Given the description of an element on the screen output the (x, y) to click on. 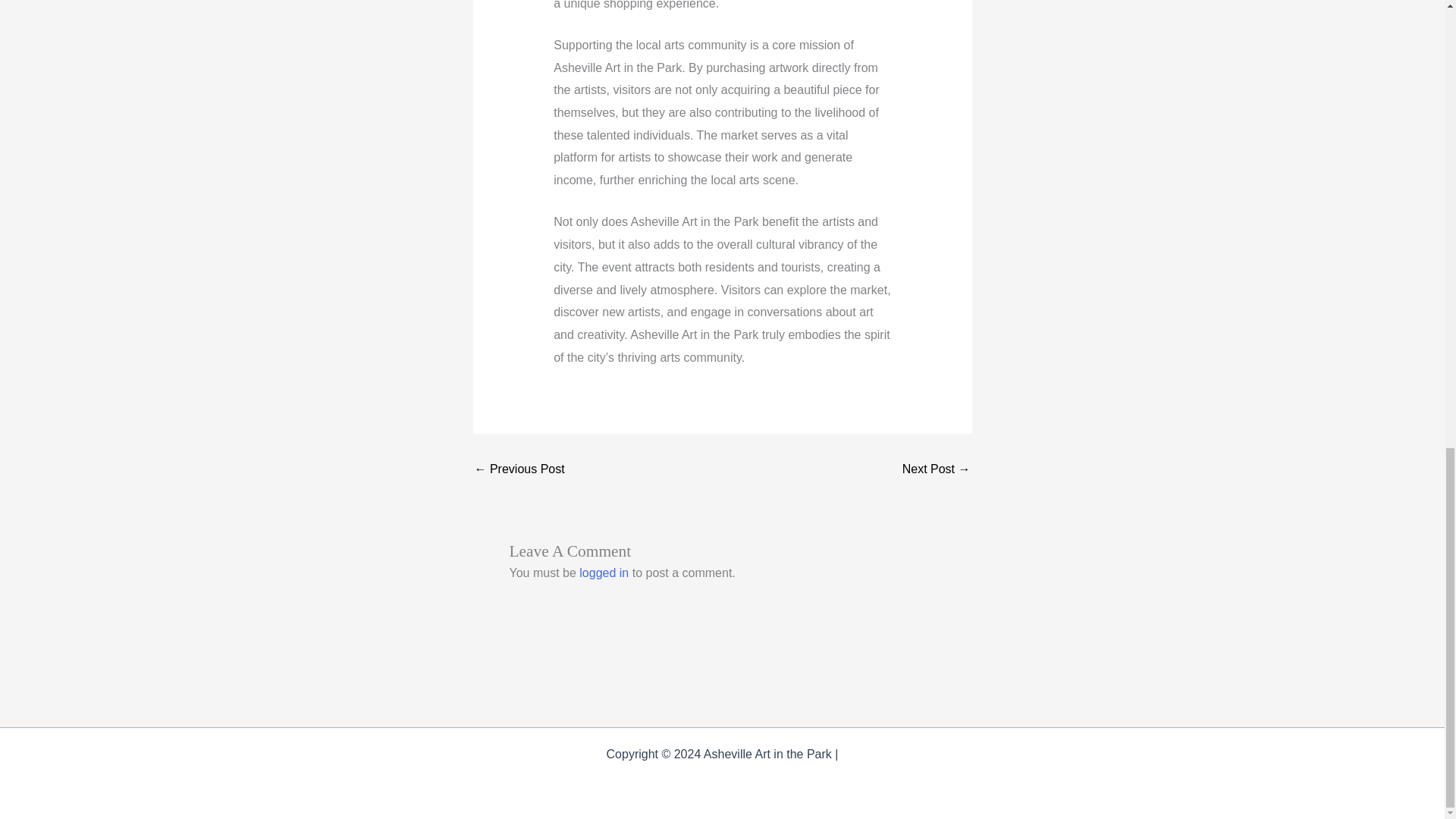
logged in (603, 572)
Discover the Vibrant Asheville Art in the Park (936, 469)
Experience the Vibrant Asheville Art in the Park (519, 469)
